Given the description of an element on the screen output the (x, y) to click on. 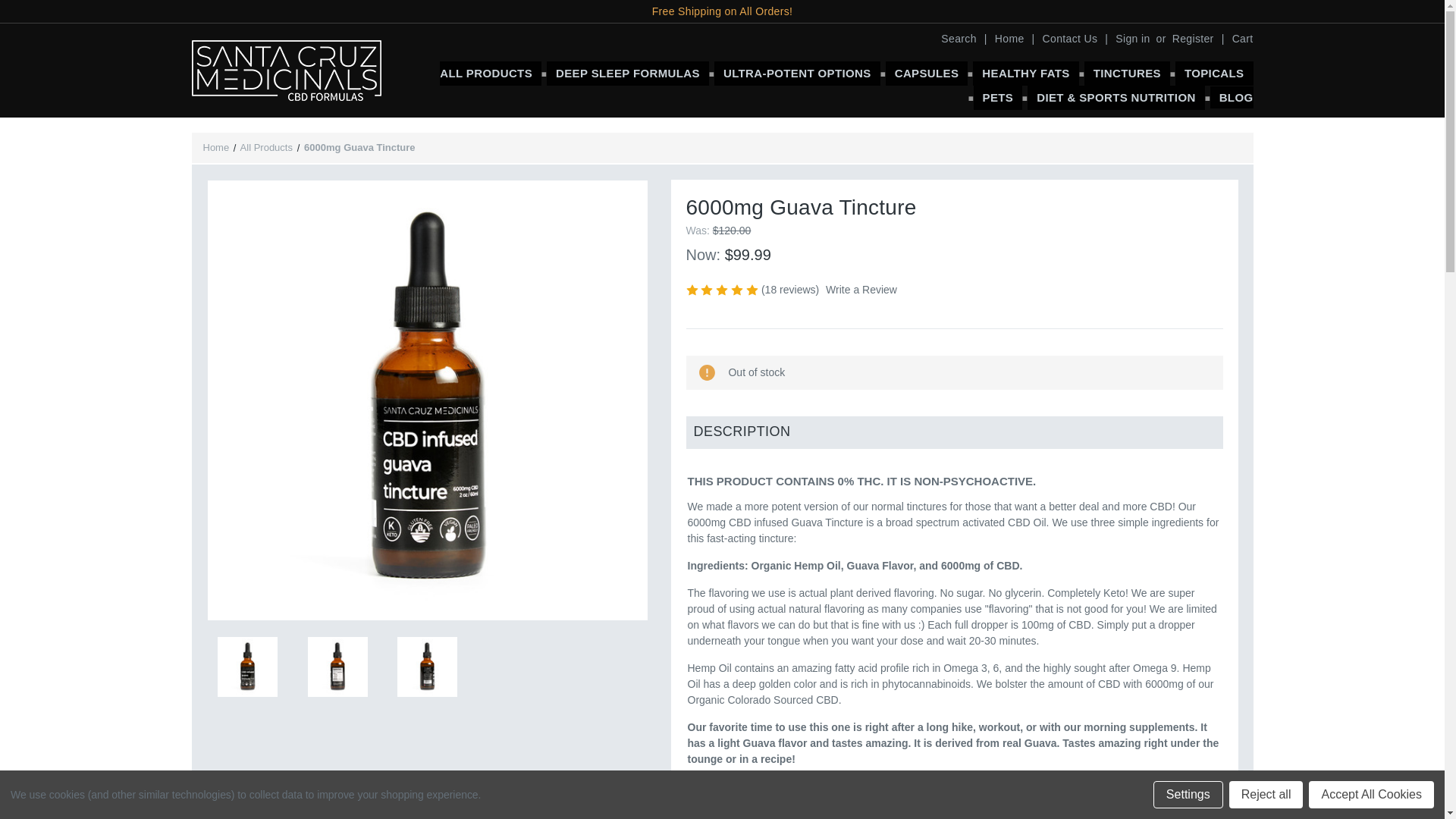
Write a Review (860, 289)
Santa Cruz Medicinals (285, 70)
TOPICALS (1213, 73)
ULTRA-POTENT OPTIONS (797, 73)
HEALTHY FATS (1025, 73)
Search (957, 38)
PETS (998, 97)
Home (1009, 38)
ALL PRODUCTS (490, 73)
BLOG (1231, 97)
